Given the description of an element on the screen output the (x, y) to click on. 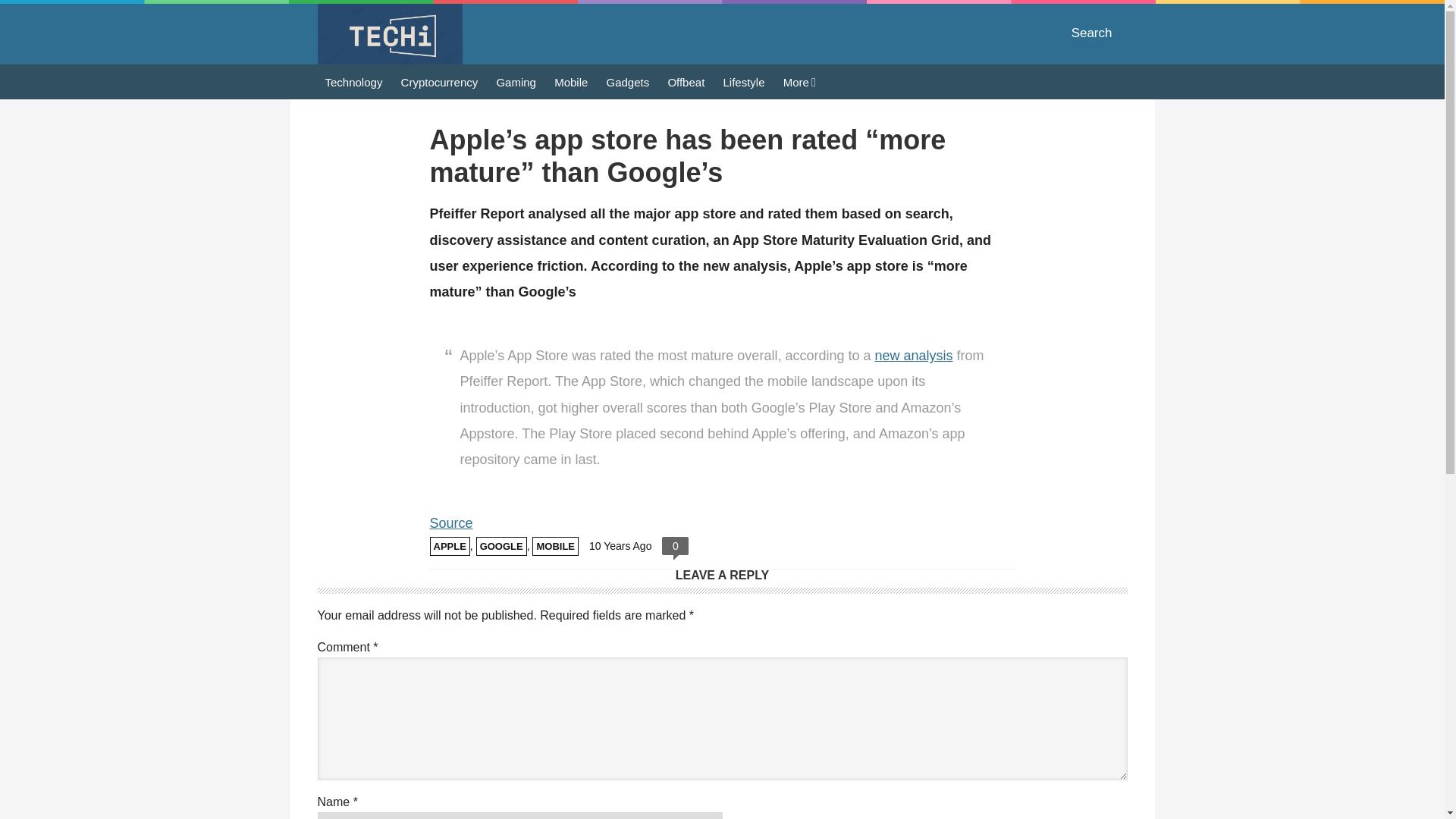
Offbeat (685, 81)
new analysis (913, 355)
More (800, 81)
APPLE (448, 546)
Source (450, 522)
GOOGLE (501, 546)
Cryptocurrency (439, 81)
MOBILE (555, 546)
Technology (353, 81)
Lifestyle (744, 81)
Gaming (515, 81)
TECH INTELLIGENCE (389, 34)
Mobile (571, 81)
Gadgets (628, 81)
